Given the description of an element on the screen output the (x, y) to click on. 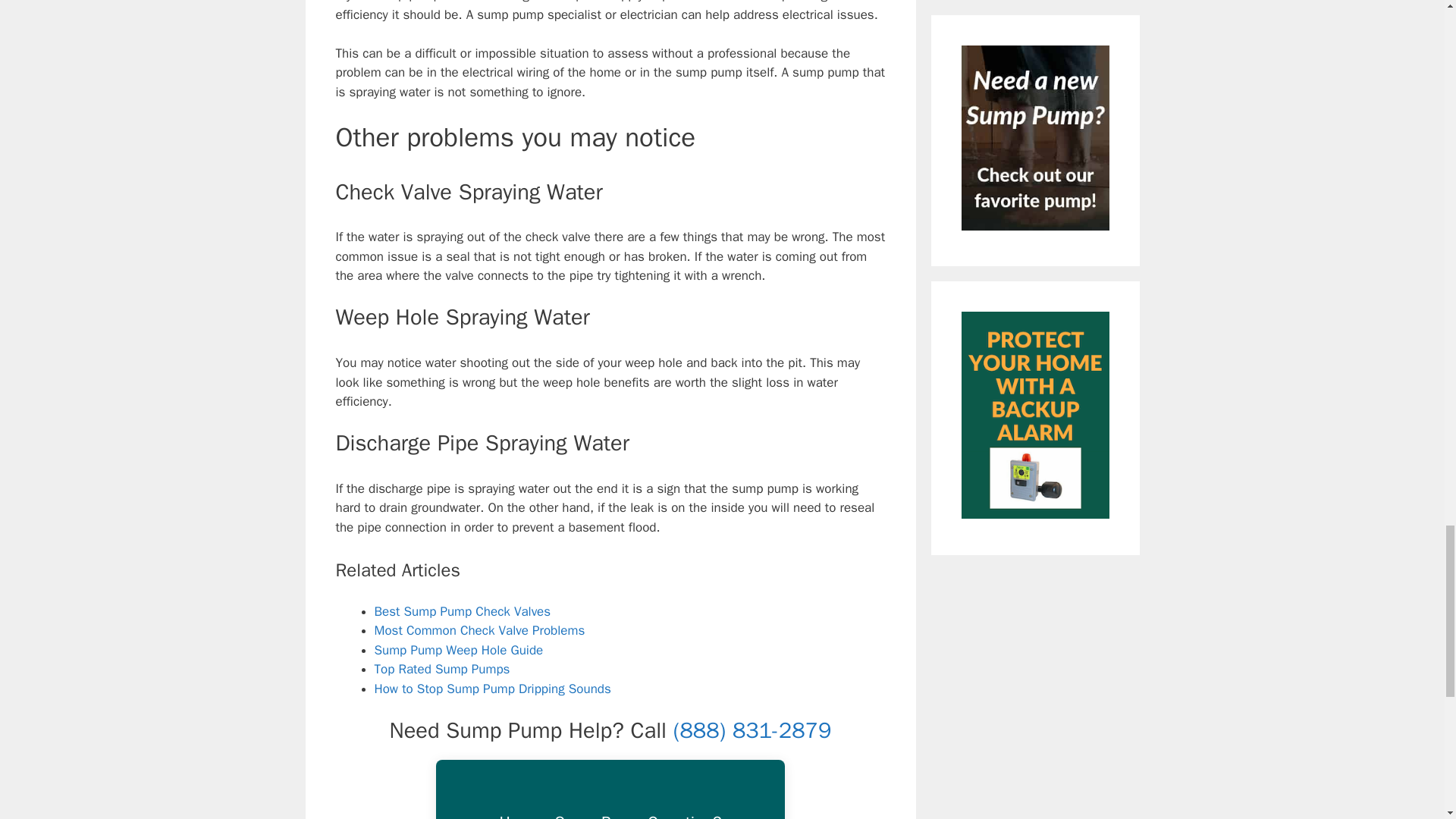
Sump Pump Weep Hole Guide (458, 650)
Most Common Check Valve Problems (479, 630)
Top Rated Sump Pumps (442, 668)
Best Sump Pump Check Valves (462, 611)
